Given the description of an element on the screen output the (x, y) to click on. 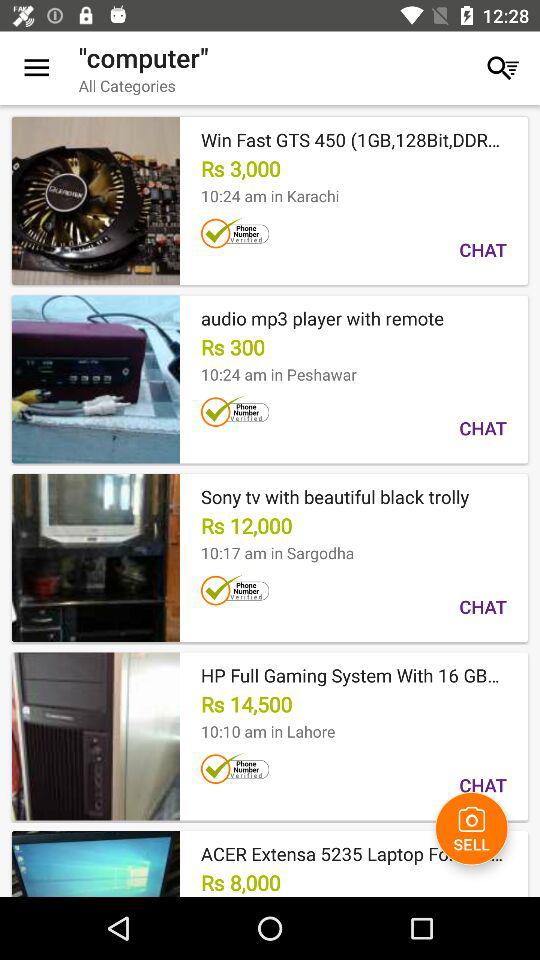
click the icon next to "computer" app (503, 67)
